Given the description of an element on the screen output the (x, y) to click on. 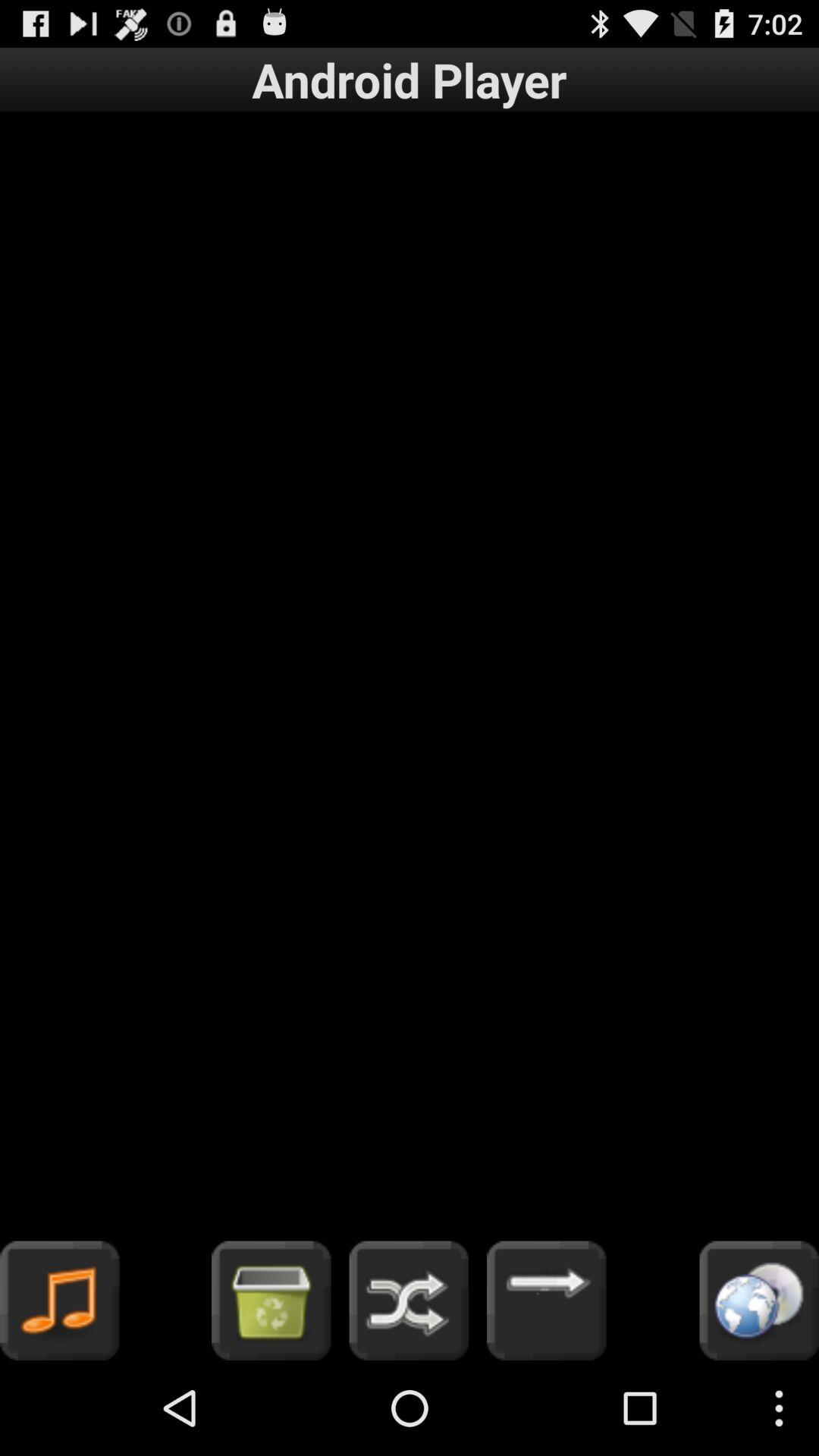
choose item at the top (409, 79)
